Given the description of an element on the screen output the (x, y) to click on. 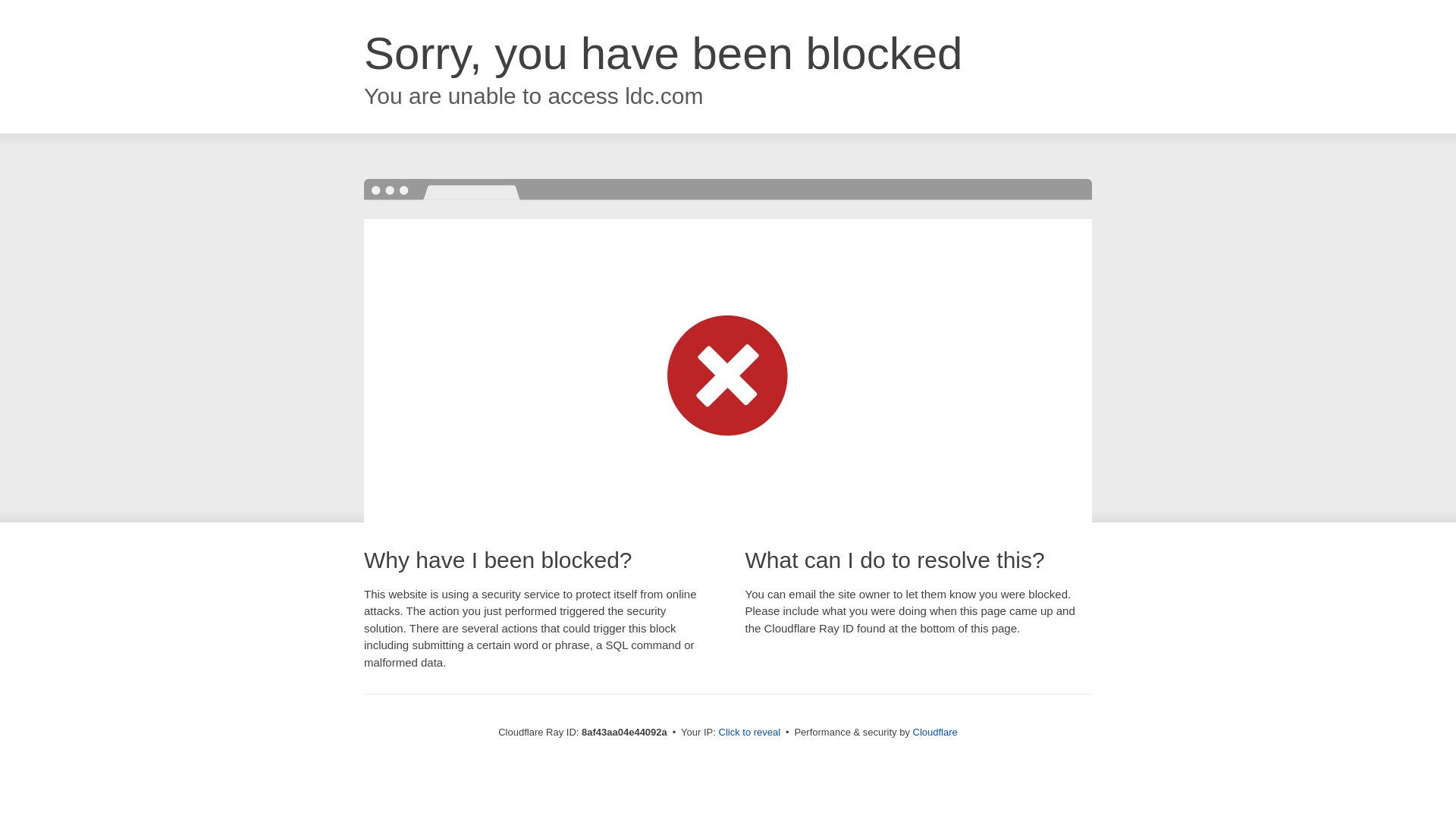
Click to reveal (749, 732)
Cloudflare (935, 731)
